Given the description of an element on the screen output the (x, y) to click on. 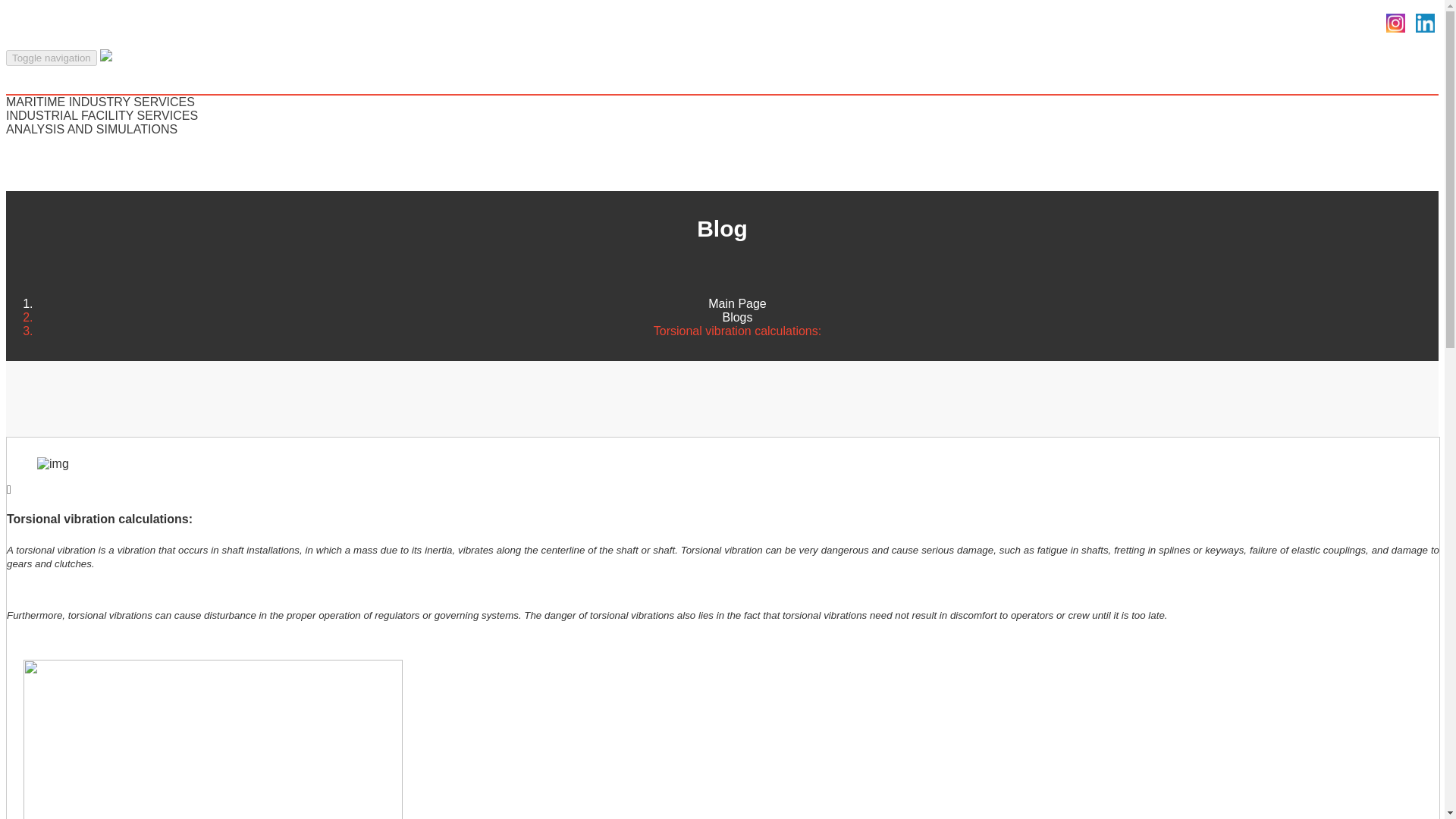
INDUSTRIAL FACILITY SERVICES (101, 116)
Blogs (737, 317)
REFERENCES (46, 157)
ANALYSIS AND SIMULATIONS (92, 129)
CONTACT (35, 184)
Toggle navigation (51, 57)
Main Page (737, 303)
Torsional vibration calculations: (99, 518)
SERVICES (40, 87)
MARITIME INDUSTRY SERVICES (100, 102)
